Given the description of an element on the screen output the (x, y) to click on. 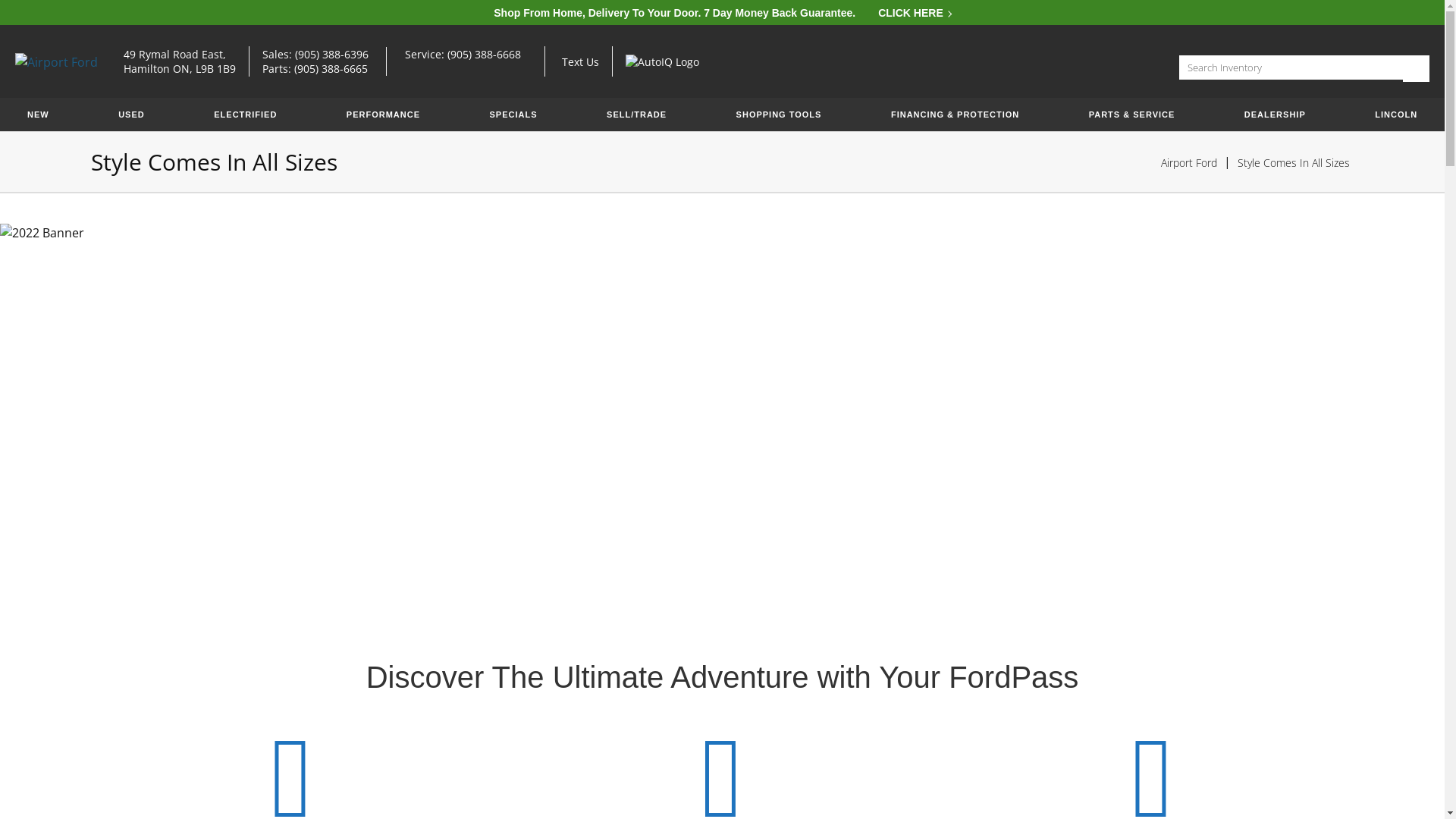
 Airport Ford Element type: hover (56, 62)
49 Rymal Road East,
Hamilton ON, L9B 1B9 Element type: text (179, 61)
2022 Banner Element type: hover (722, 411)
CLICK HERE Element type: text (914, 12)
SHOPPING TOOLS Element type: text (779, 114)
PARTS & SERVICE Element type: text (1131, 114)
SPECIALS Element type: text (513, 114)
USED Element type: text (131, 114)
Sales: (905) 388-6396 Element type: text (325, 54)
FINANCING & PROTECTION Element type: text (954, 114)
NEW Element type: text (38, 114)
DEALERSHIP Element type: text (1274, 114)
LINCOLN Element type: text (1395, 114)
Submit Element type: text (1415, 68)
PERFORMANCE Element type: text (383, 114)
Service: (905) 388-6668 Element type: text (468, 54)
Airport Ford Element type: text (1189, 161)
SELL/TRADE Element type: text (636, 114)
Parts: (905) 388-6665 Element type: text (329, 68)
Text Us Element type: text (580, 61)
ELECTRIFIED Element type: text (244, 114)
